Given the description of an element on the screen output the (x, y) to click on. 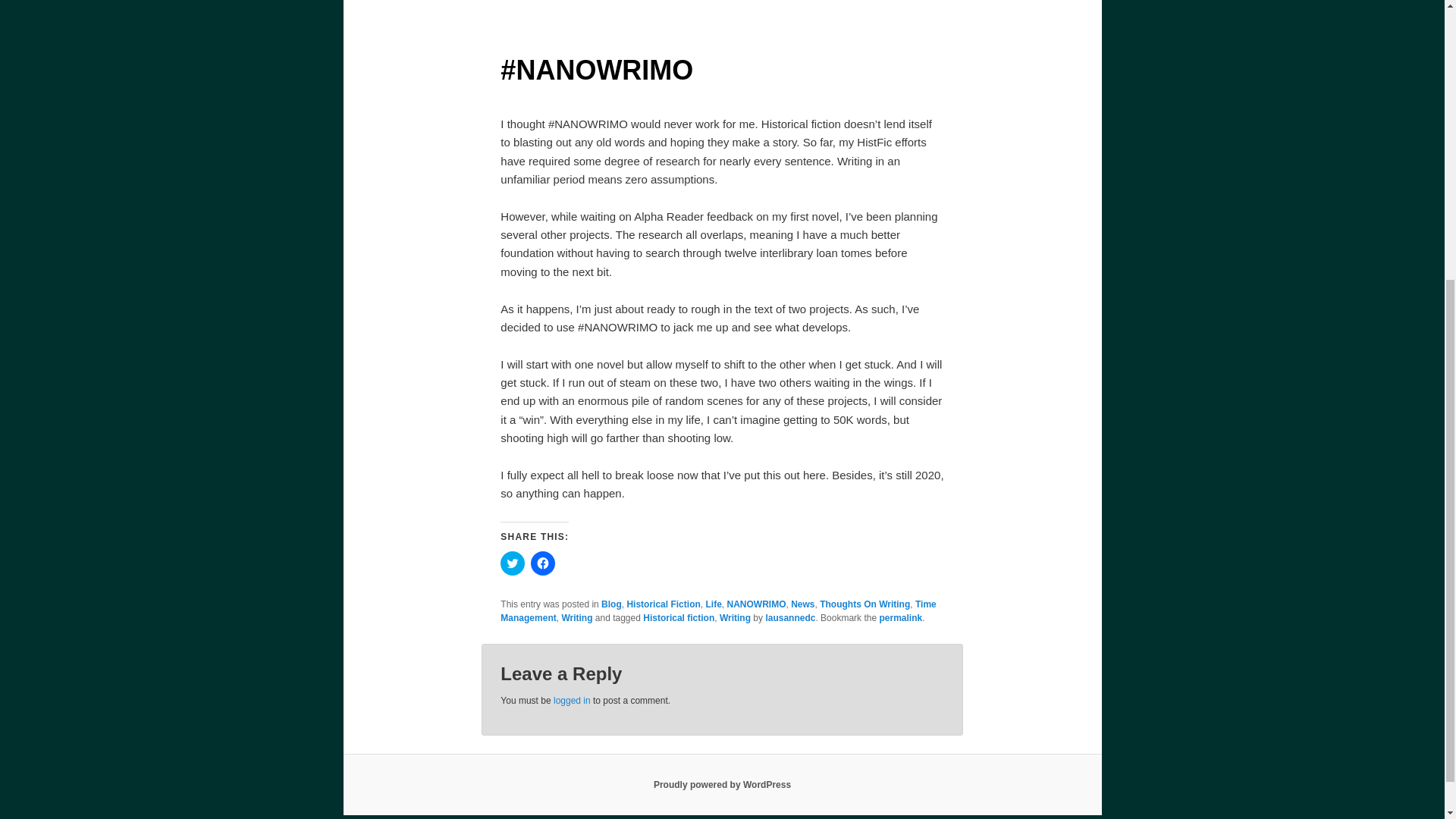
Proudly powered by WordPress (721, 784)
Life (712, 603)
Time Management (718, 610)
Click to share on Facebook (542, 563)
lausannedc (790, 617)
Click to share on Twitter (512, 563)
logged in (572, 700)
Semantic Personal Publishing Platform (721, 784)
permalink (900, 617)
Historical fiction (678, 617)
